Given the description of an element on the screen output the (x, y) to click on. 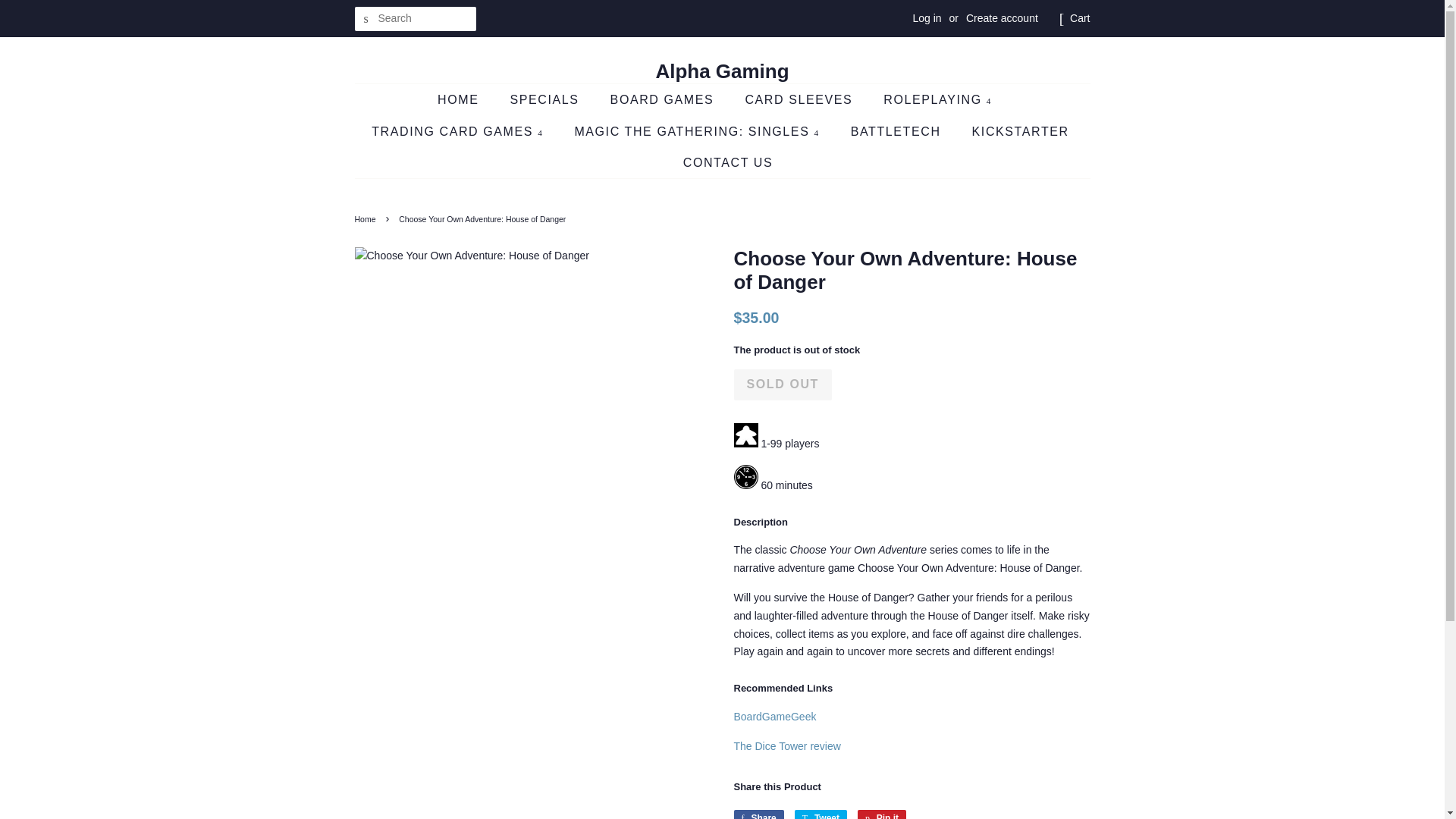
Tweet on Twitter (820, 814)
SEARCH (366, 18)
Cart (1079, 18)
Create account (1002, 18)
Log in (927, 18)
Share on Facebook (758, 814)
BGG - Choose Your Own Adventure: House of Dangers (774, 716)
Pin on Pinterest (881, 814)
Back to the frontpage (367, 218)
